Given the description of an element on the screen output the (x, y) to click on. 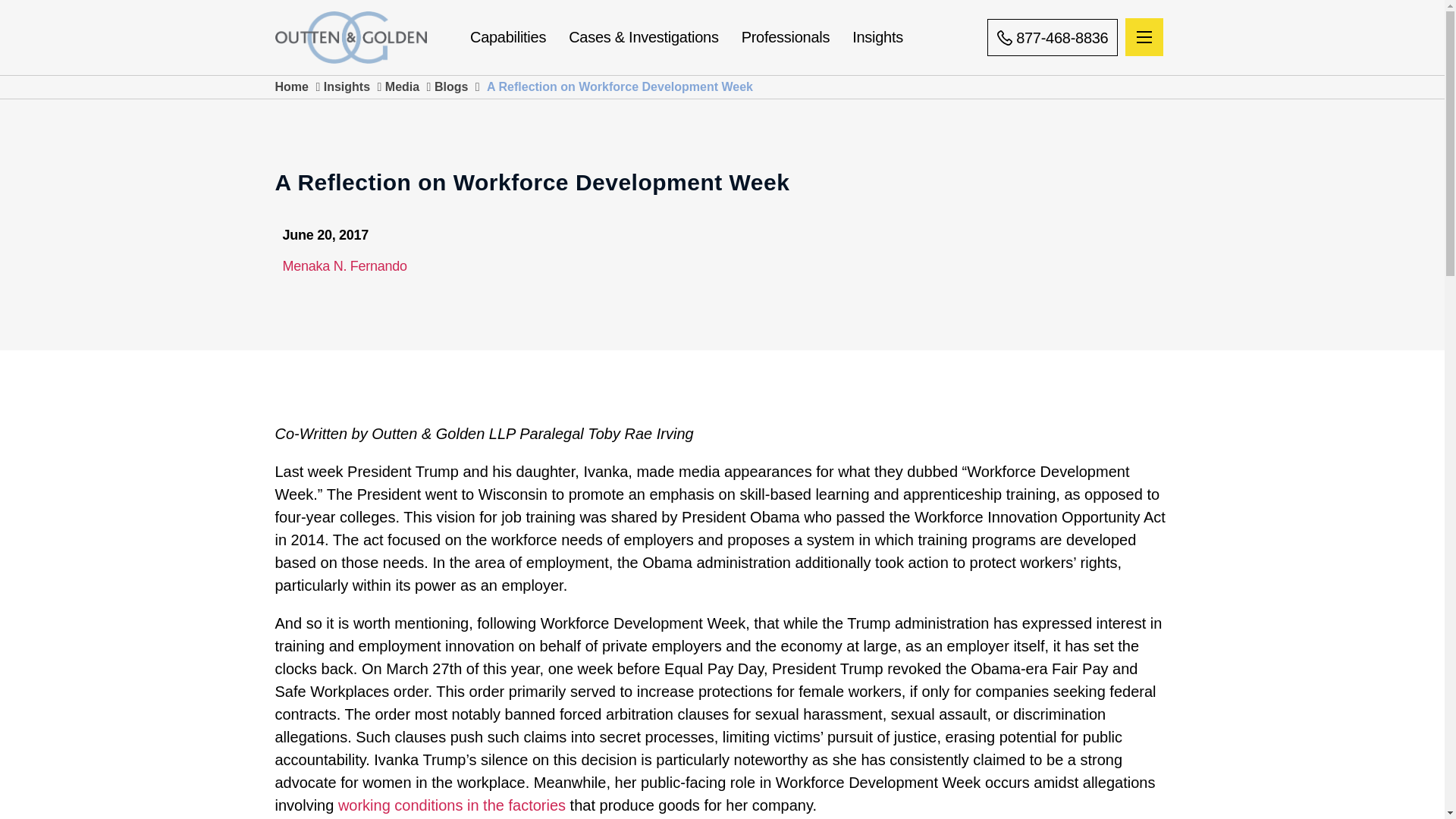
877-468-8836 (1052, 37)
Capabilities (519, 36)
Professionals (797, 36)
Insights (888, 36)
